Given the description of an element on the screen output the (x, y) to click on. 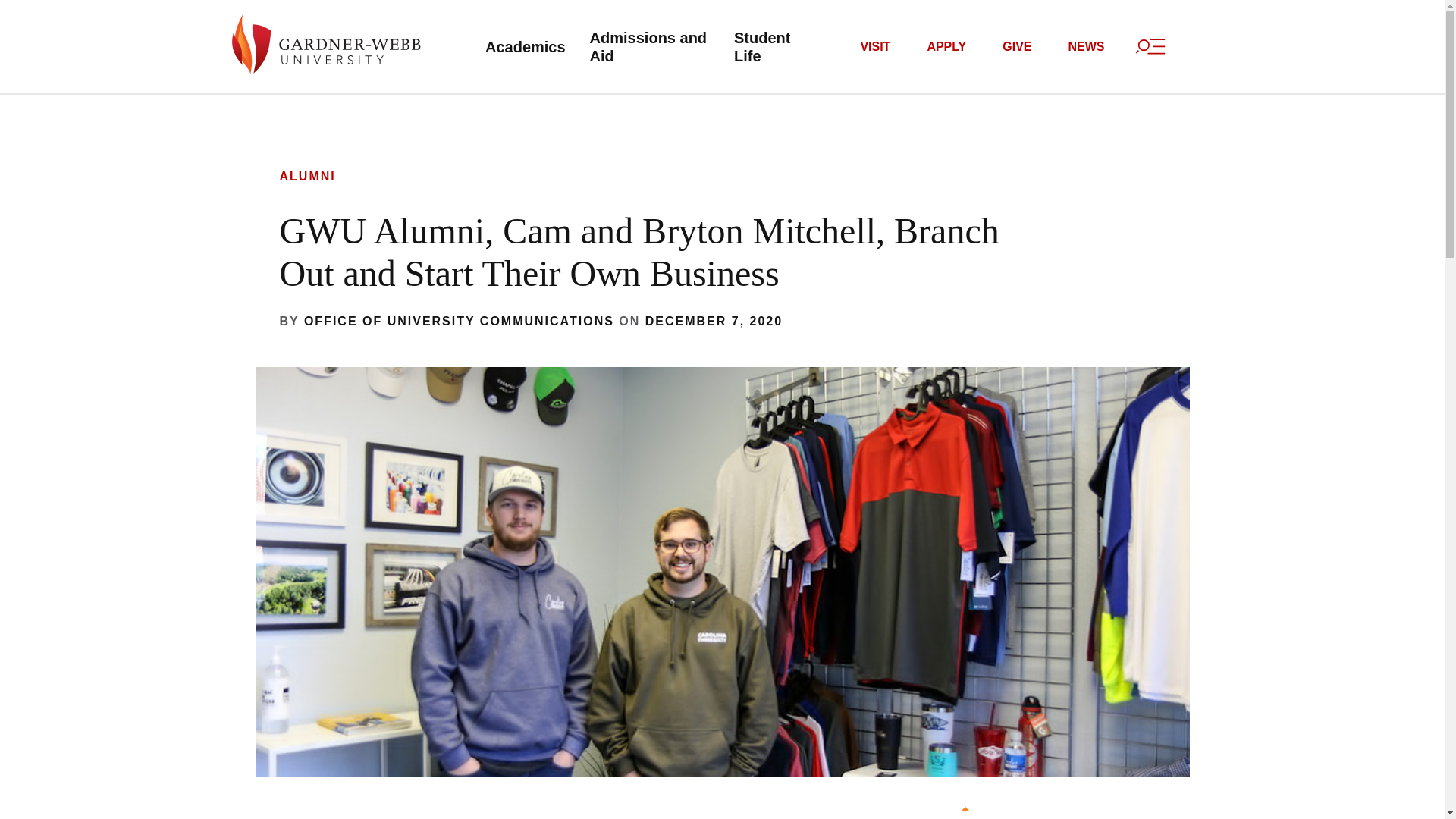
Admissions and Aid (648, 46)
GIVE (1016, 46)
NEWS (1085, 46)
APPLY (946, 46)
Student Life (767, 46)
VISIT (874, 46)
Academics (524, 46)
